Given the description of an element on the screen output the (x, y) to click on. 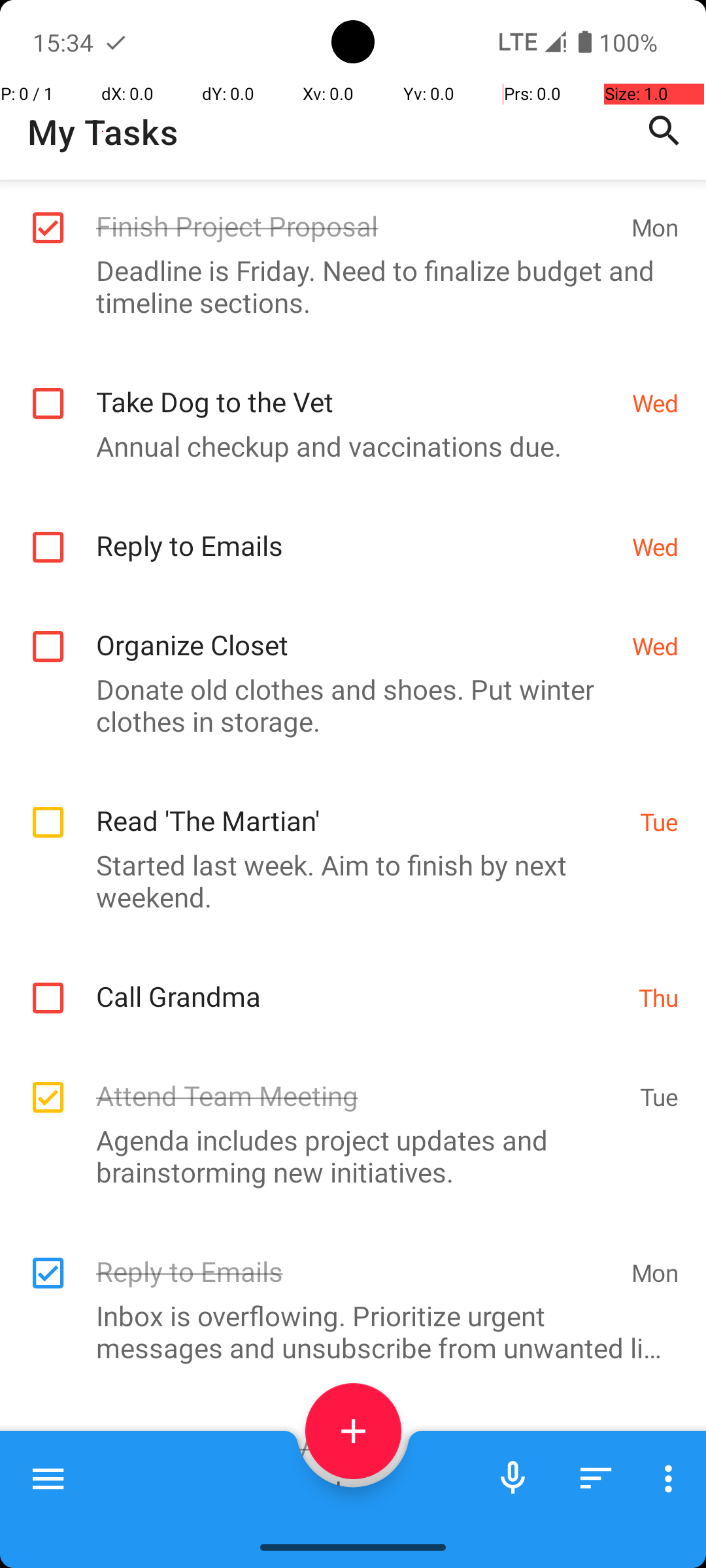
Deadline is Friday. Need to finalize budget and timeline sections. Element type: android.widget.TextView (346, 285)
Annual checkup and vaccinations due. Element type: android.widget.TextView (346, 445)
Inbox is overflowing. Prioritize urgent messages and unsubscribe from unwanted lists. Element type: android.widget.TextView (346, 1331)
